Given the description of an element on the screen output the (x, y) to click on. 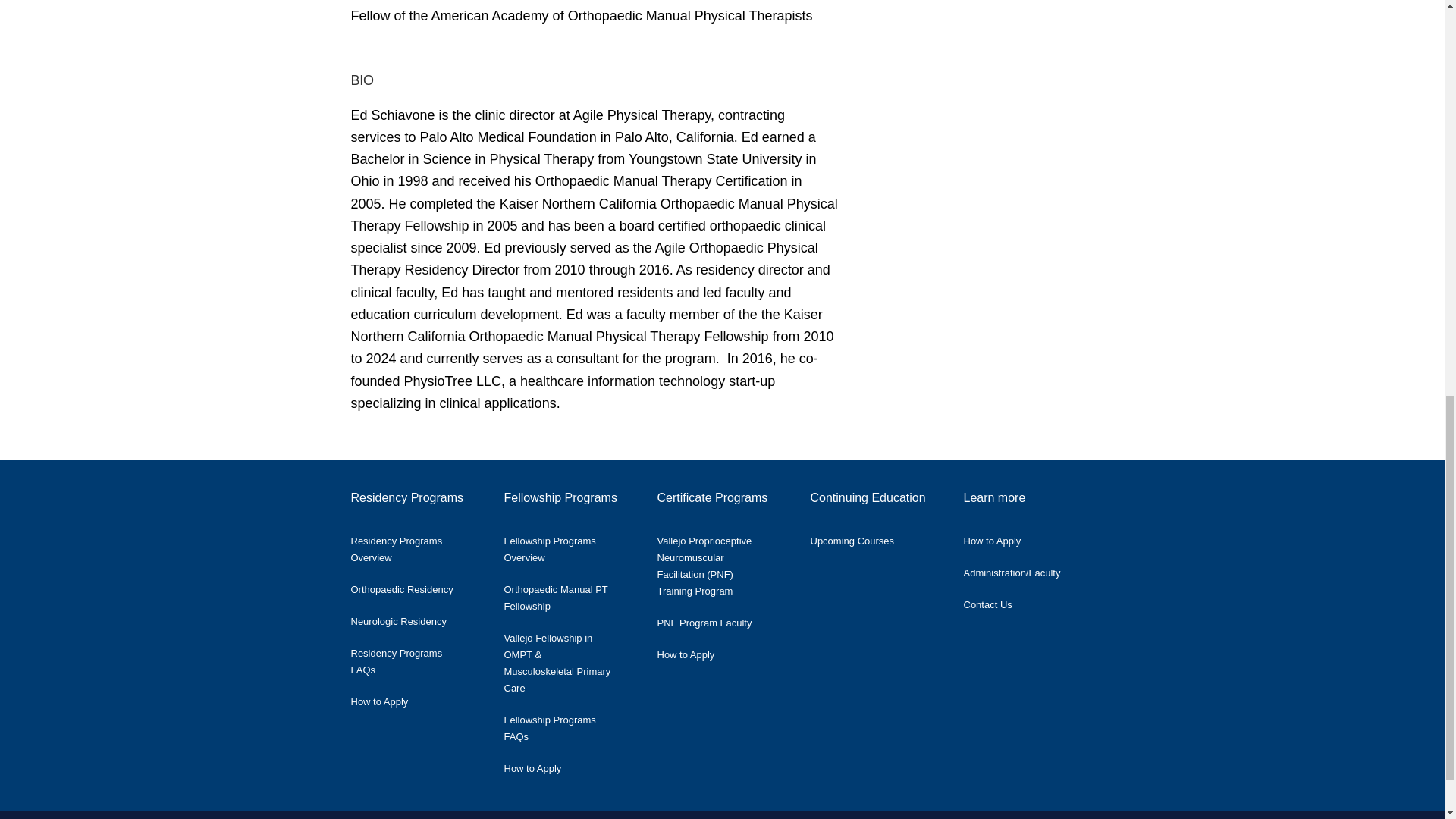
How to Apply (390, 698)
Residency Programs FAQs (415, 657)
Neurologic Residency (409, 617)
Orthopaedic Residency (413, 585)
Fellowship Programs Overview (568, 545)
Residency Programs Overview (415, 545)
Orthopaedic Manual PT Fellowship (568, 594)
